Given the description of an element on the screen output the (x, y) to click on. 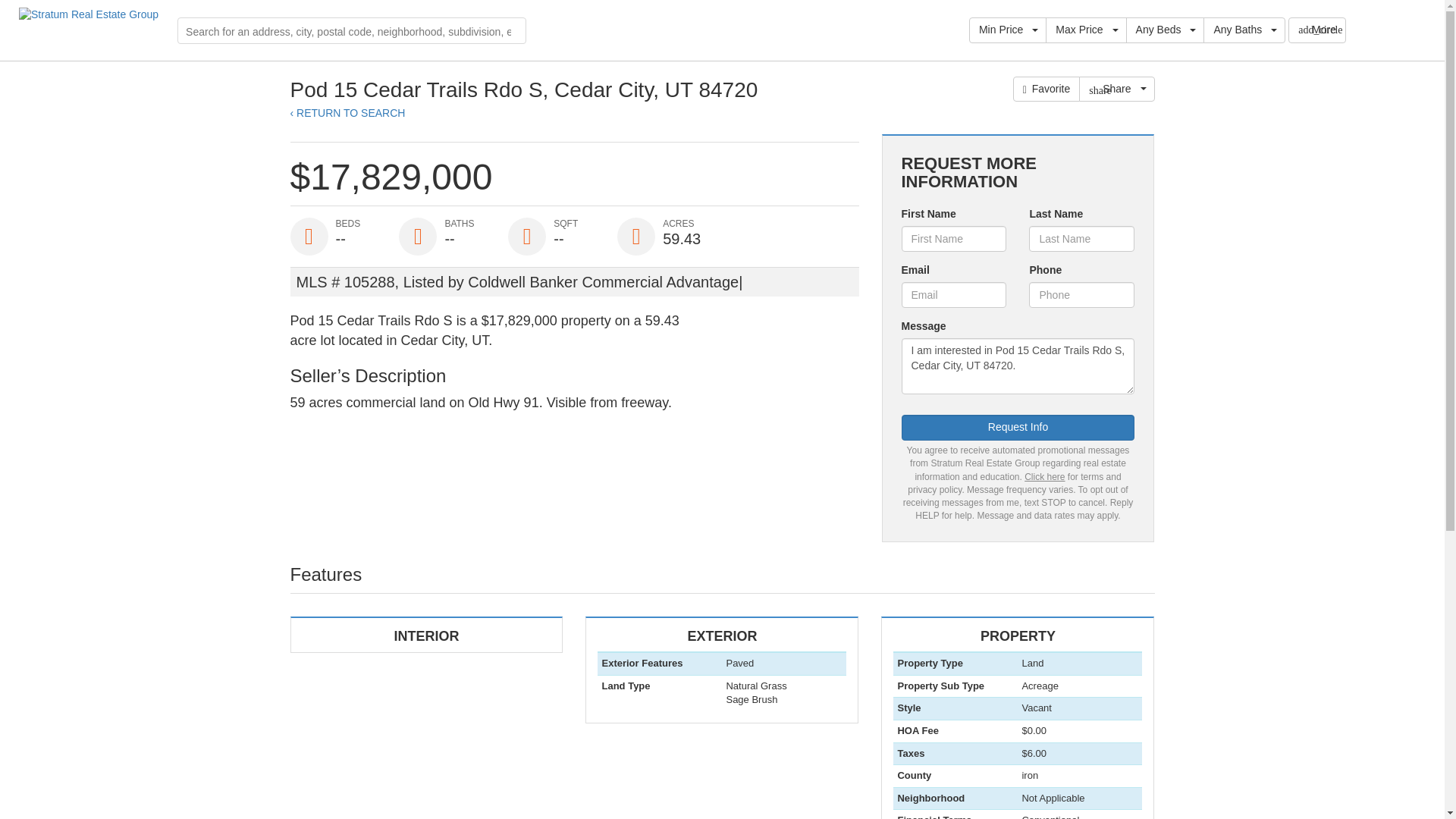
INTERIOR (720, 686)
Min Price (720, 686)
